Given the description of an element on the screen output the (x, y) to click on. 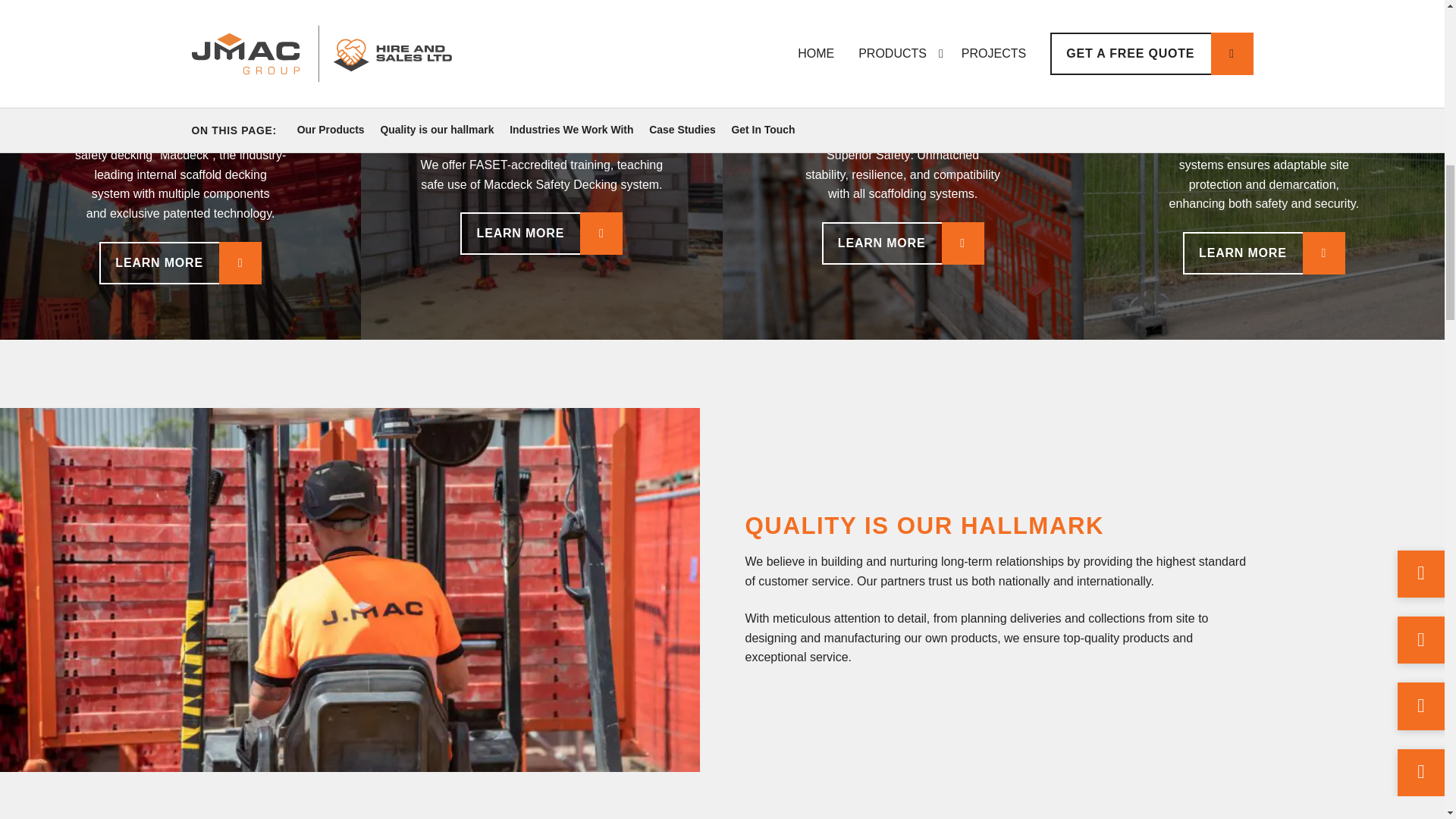
LEARN MORE (180, 261)
LEARN MORE (903, 242)
LEARN MORE (541, 233)
LEARN MORE (1263, 252)
